Given the description of an element on the screen output the (x, y) to click on. 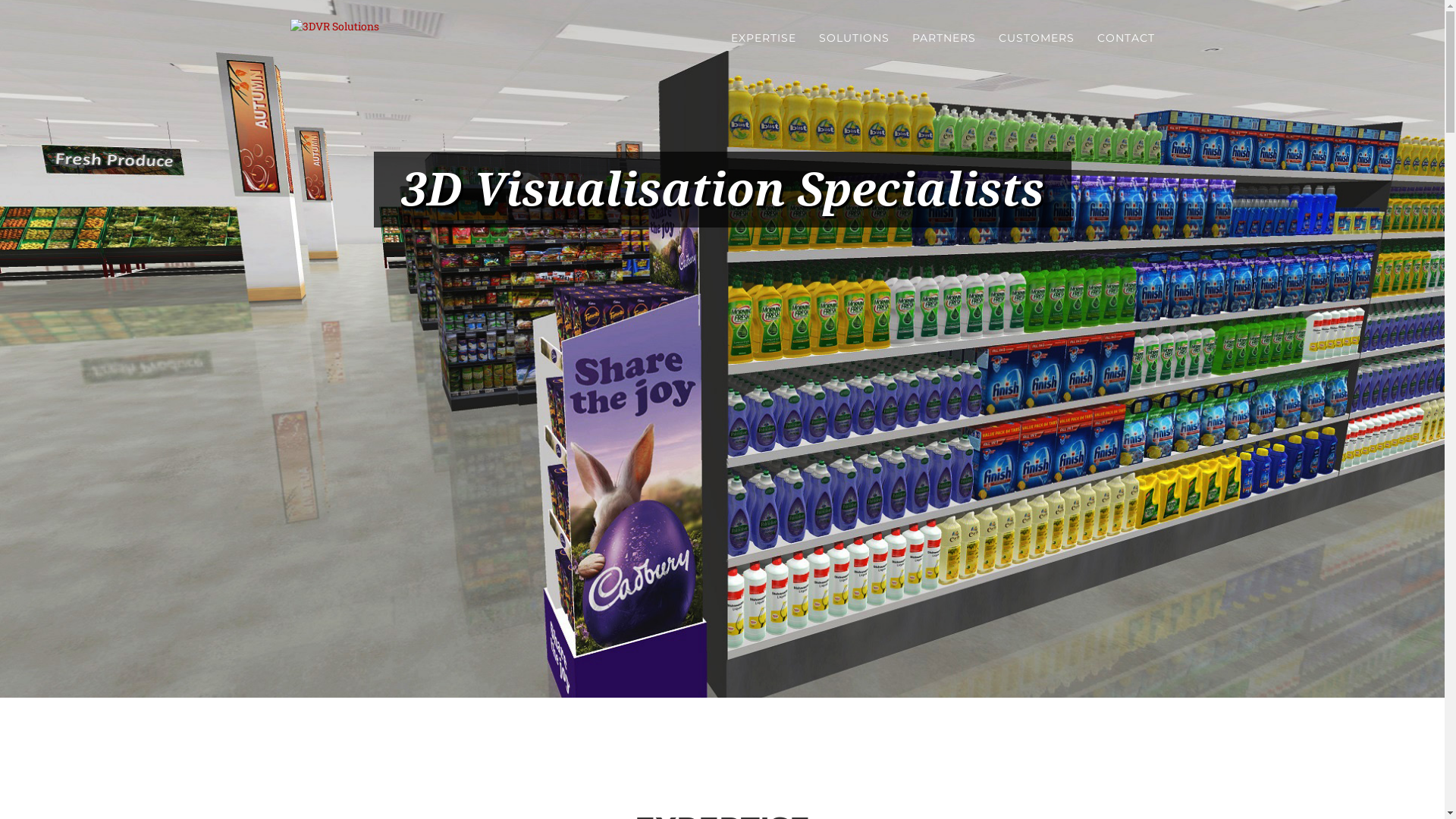
SOLUTIONS Element type: text (853, 37)
EXPERTISE Element type: text (762, 37)
CUSTOMERS Element type: text (1036, 37)
PARTNERS Element type: text (943, 37)
CONTACT Element type: text (1125, 37)
